Given the description of an element on the screen output the (x, y) to click on. 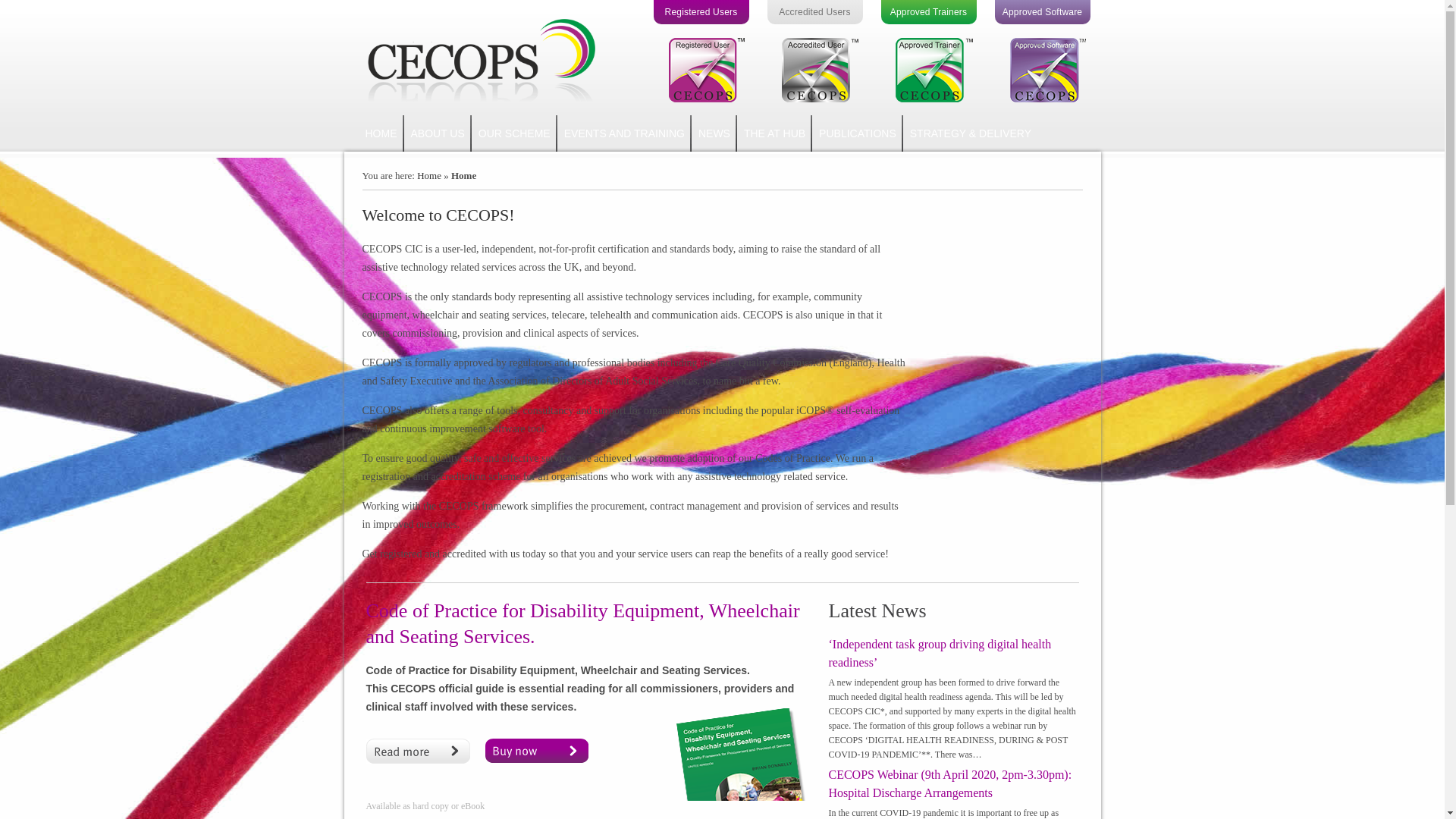
ABOUT US (436, 133)
Approved Software (1042, 12)
CECOPS (480, 57)
Accredited Users (815, 12)
PUBLICATIONS (857, 133)
OUR SCHEME (514, 133)
THE AT HUB (774, 133)
Read More (416, 750)
EVENTS AND TRAINING (624, 133)
NEWS (713, 133)
Home (428, 174)
HOME (380, 133)
Buy now (536, 750)
Registered Users (701, 12)
Approved Trainers (928, 12)
